Given the description of an element on the screen output the (x, y) to click on. 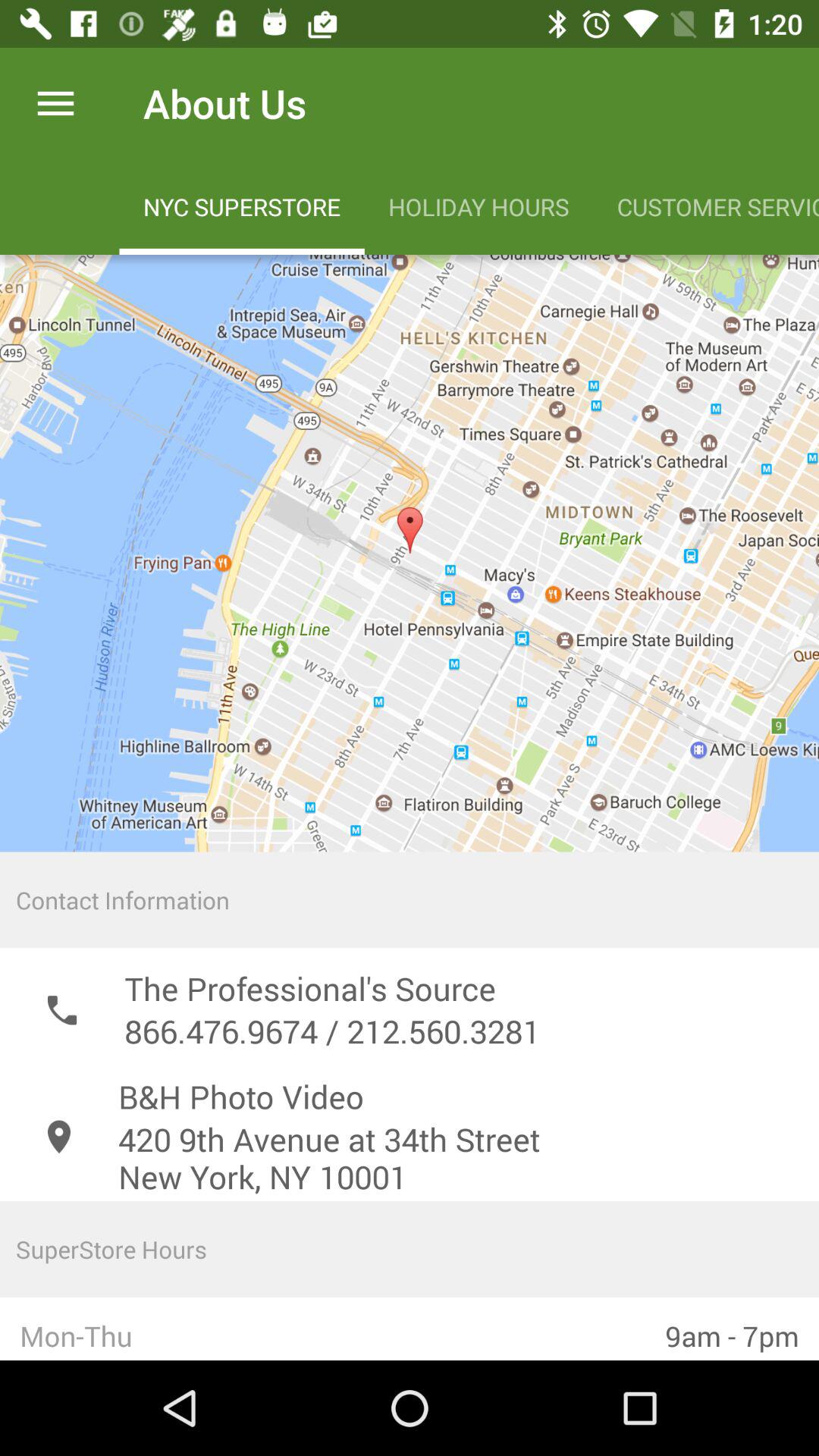
tap the item above the mon-thu (409, 1249)
